Given the description of an element on the screen output the (x, y) to click on. 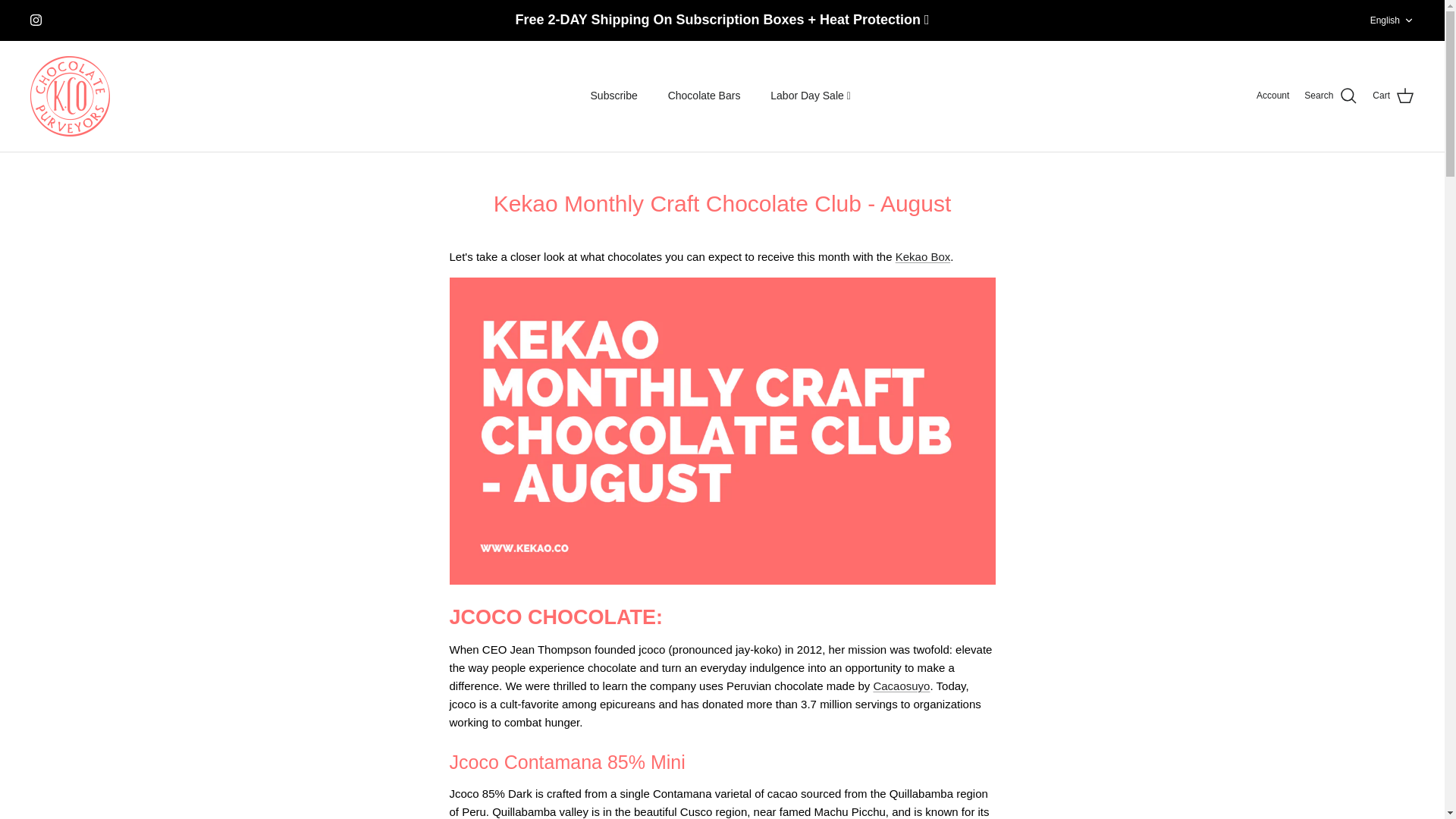
Chocolate Bars (703, 95)
Down (1408, 20)
cacaosuyo (901, 685)
Instagram (36, 19)
Subscribe (613, 95)
Kekao  (70, 96)
Search (1330, 96)
Account (1272, 95)
Cart (1391, 20)
